Given the description of an element on the screen output the (x, y) to click on. 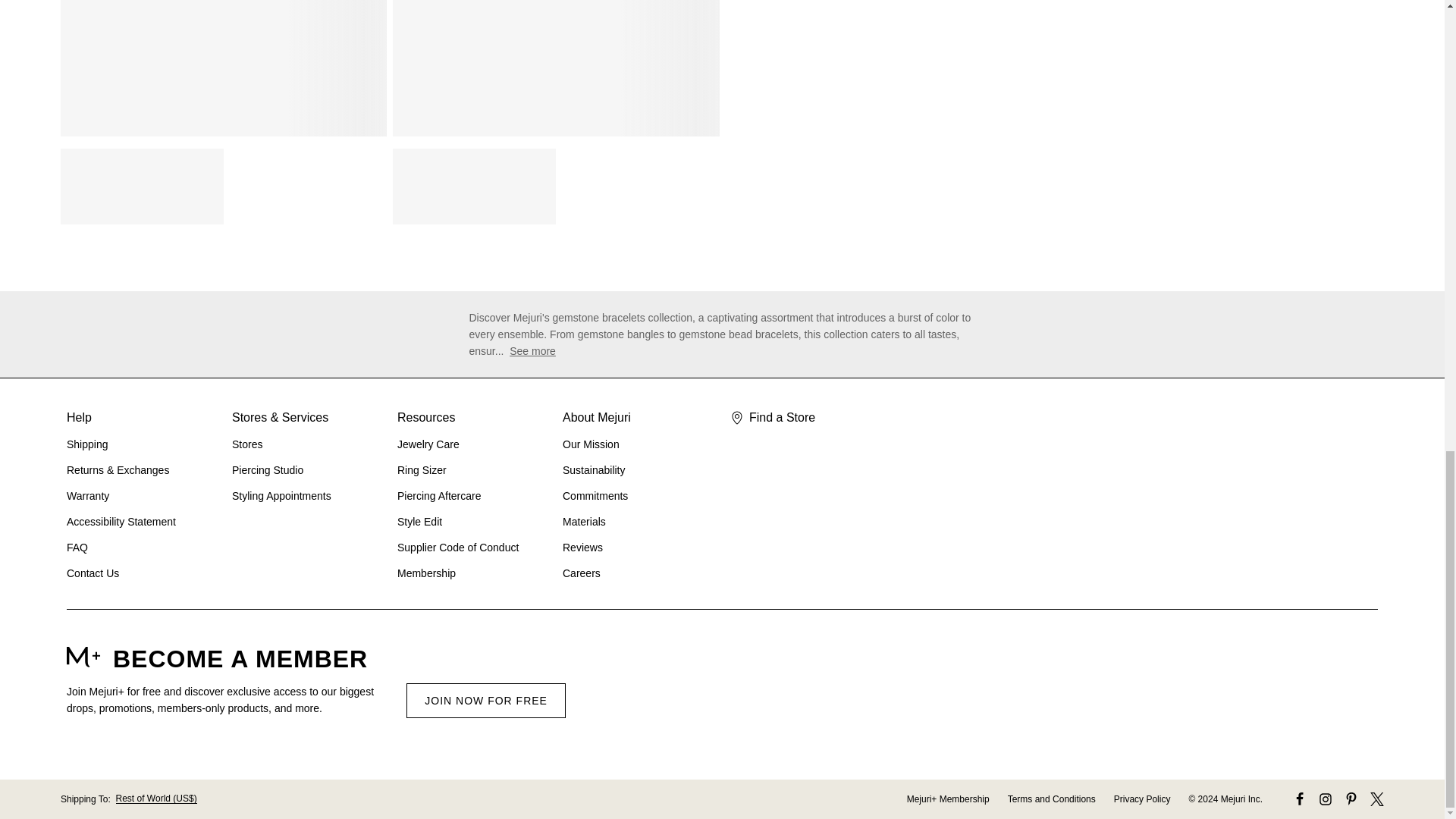
Twitter (1377, 798)
Warranty (87, 495)
Pinterest (1350, 798)
Accessibility Statement (121, 521)
Facebook (1299, 798)
FAQ (76, 547)
Contact Us (92, 573)
Shipping (86, 444)
Instagram (1325, 798)
See more (532, 351)
